Given the description of an element on the screen output the (x, y) to click on. 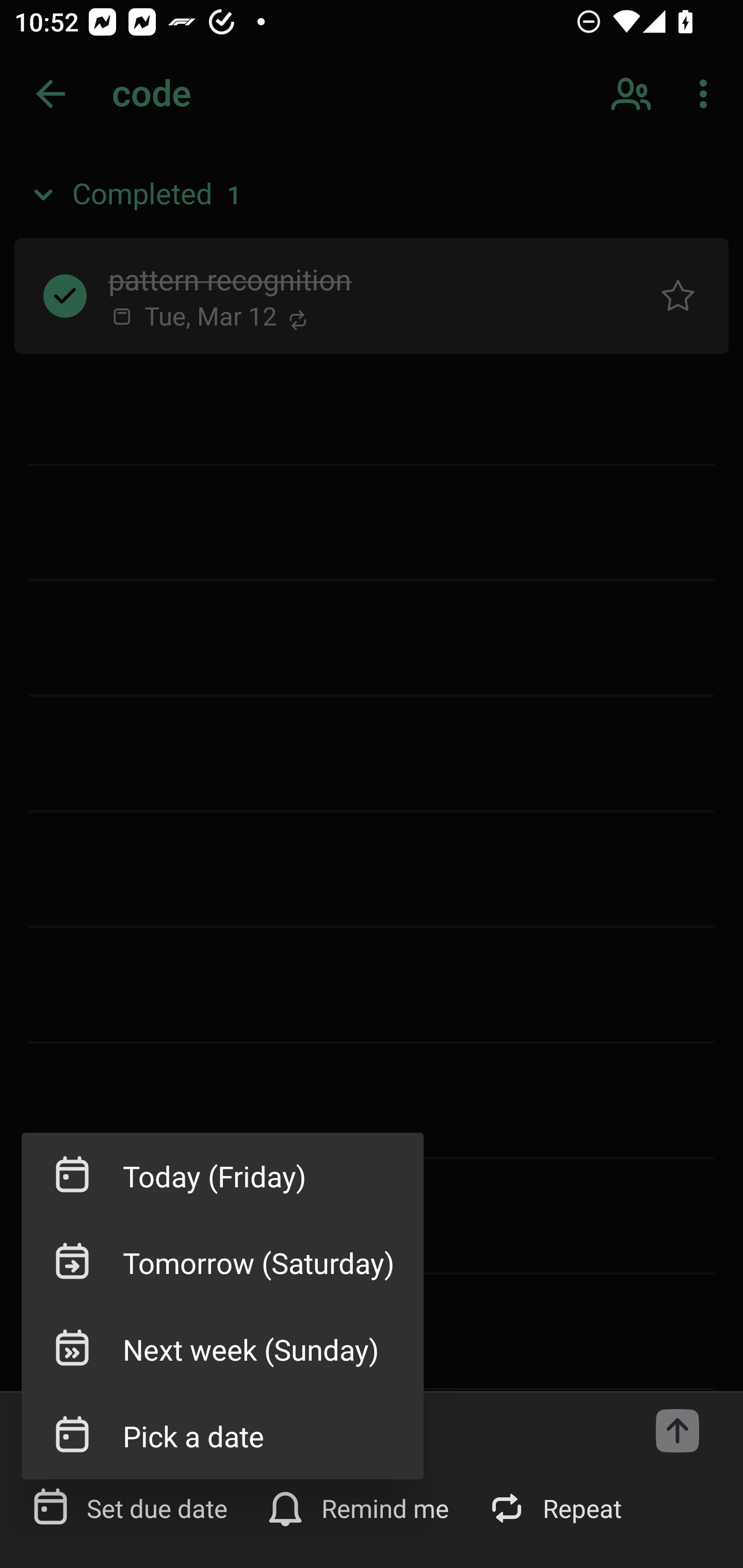
Today (Friday)1 in 4 Today (Friday) (222, 1175)
Tomorrow (Saturday)2 in 4 Tomorrow (Saturday) (222, 1262)
Next week (Sunday)3 in 4 Next week (Sunday) (222, 1349)
Pick a date4 in 4 Pick a date (222, 1435)
